Given the description of an element on the screen output the (x, y) to click on. 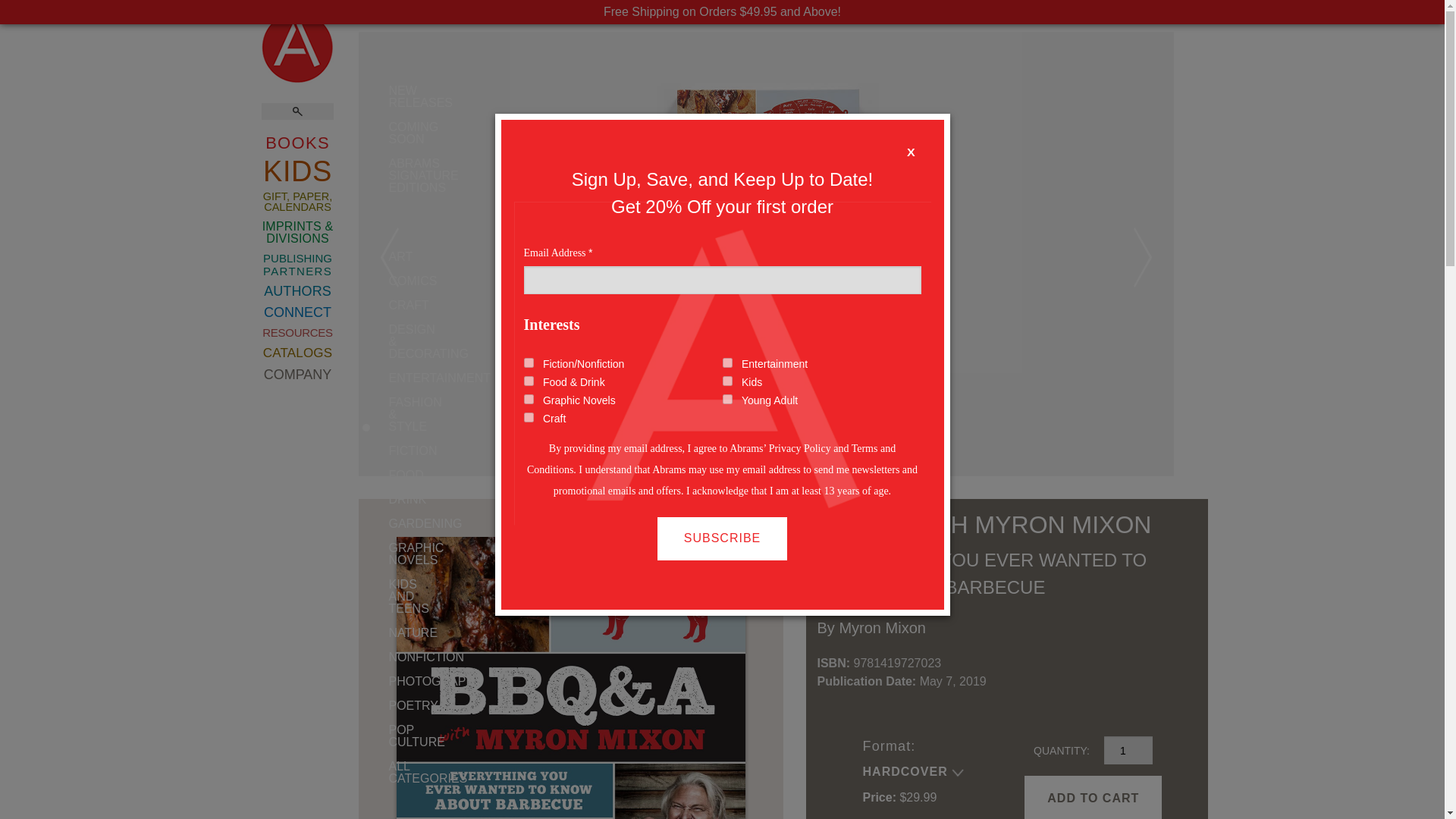
COMICS (373, 281)
GIFT, PAPER, CALENDARS (296, 201)
NONFICTION (373, 657)
34359738368 (727, 362)
2147483648 (527, 362)
1 (1128, 750)
Categories (373, 772)
POETRY (373, 705)
COMPANY (296, 373)
Subscribe (722, 538)
KIDS (296, 170)
137438953472 (727, 398)
ART (373, 256)
CONNECT (296, 312)
Abrams ComicArts (373, 281)
